Given the description of an element on the screen output the (x, y) to click on. 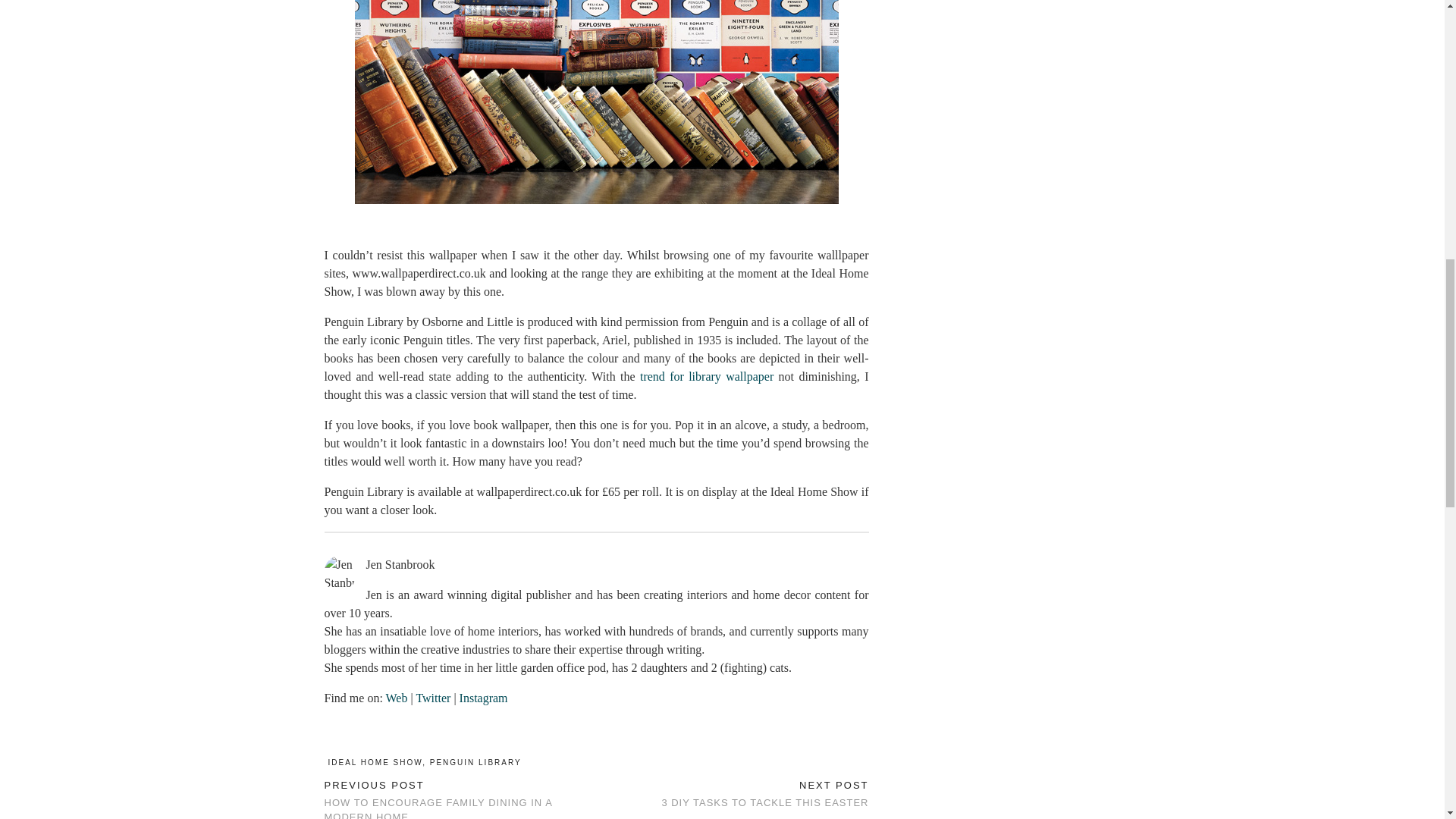
Share on Twitter (335, 735)
Penguin Library (596, 101)
Share on Pinterest (343, 735)
Share on Facebook (327, 735)
